Given the description of an element on the screen output the (x, y) to click on. 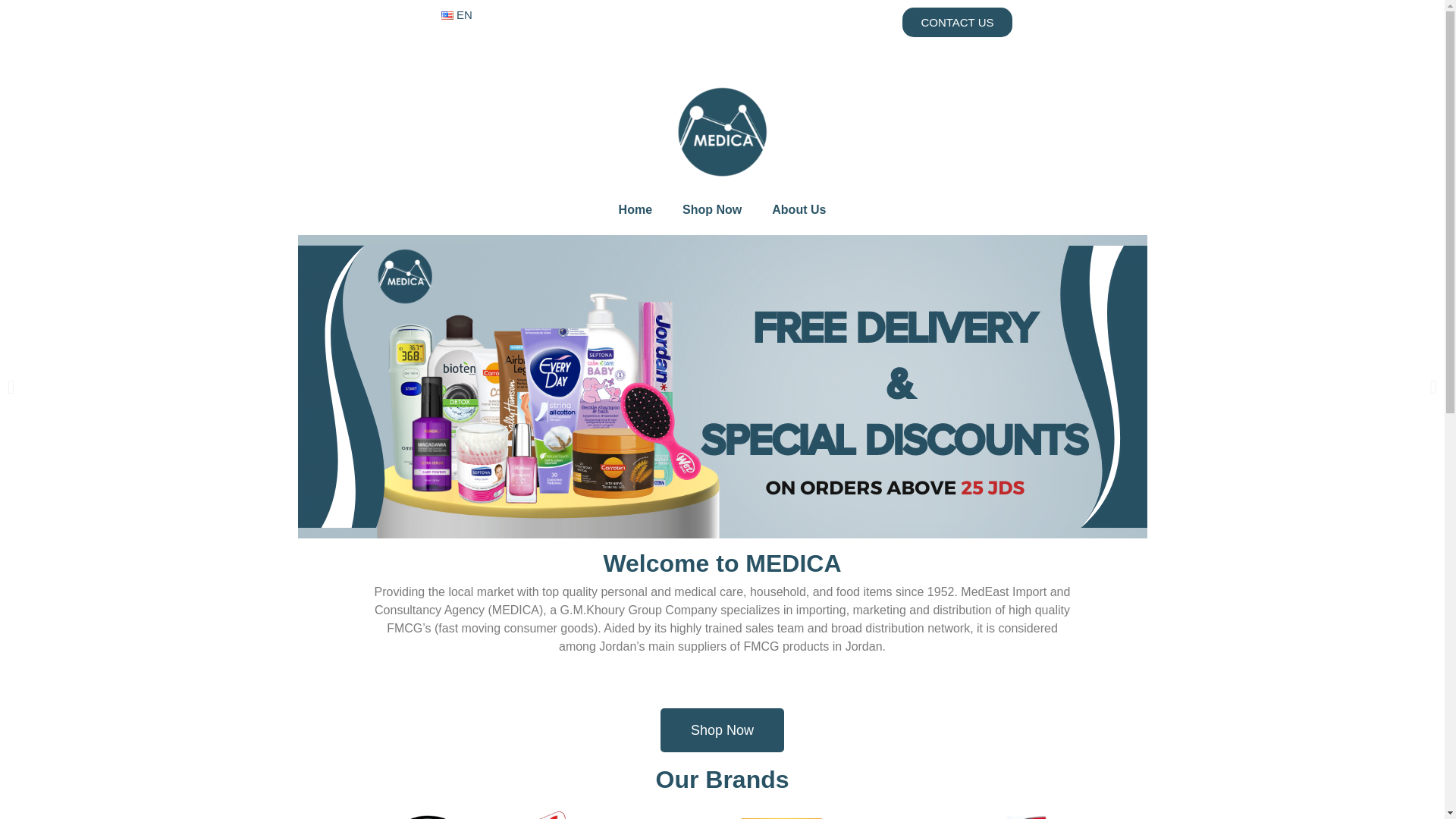
About Us (799, 209)
EN (456, 14)
Home (635, 209)
CONTACT US (956, 21)
Shop Now (711, 209)
